Given the description of an element on the screen output the (x, y) to click on. 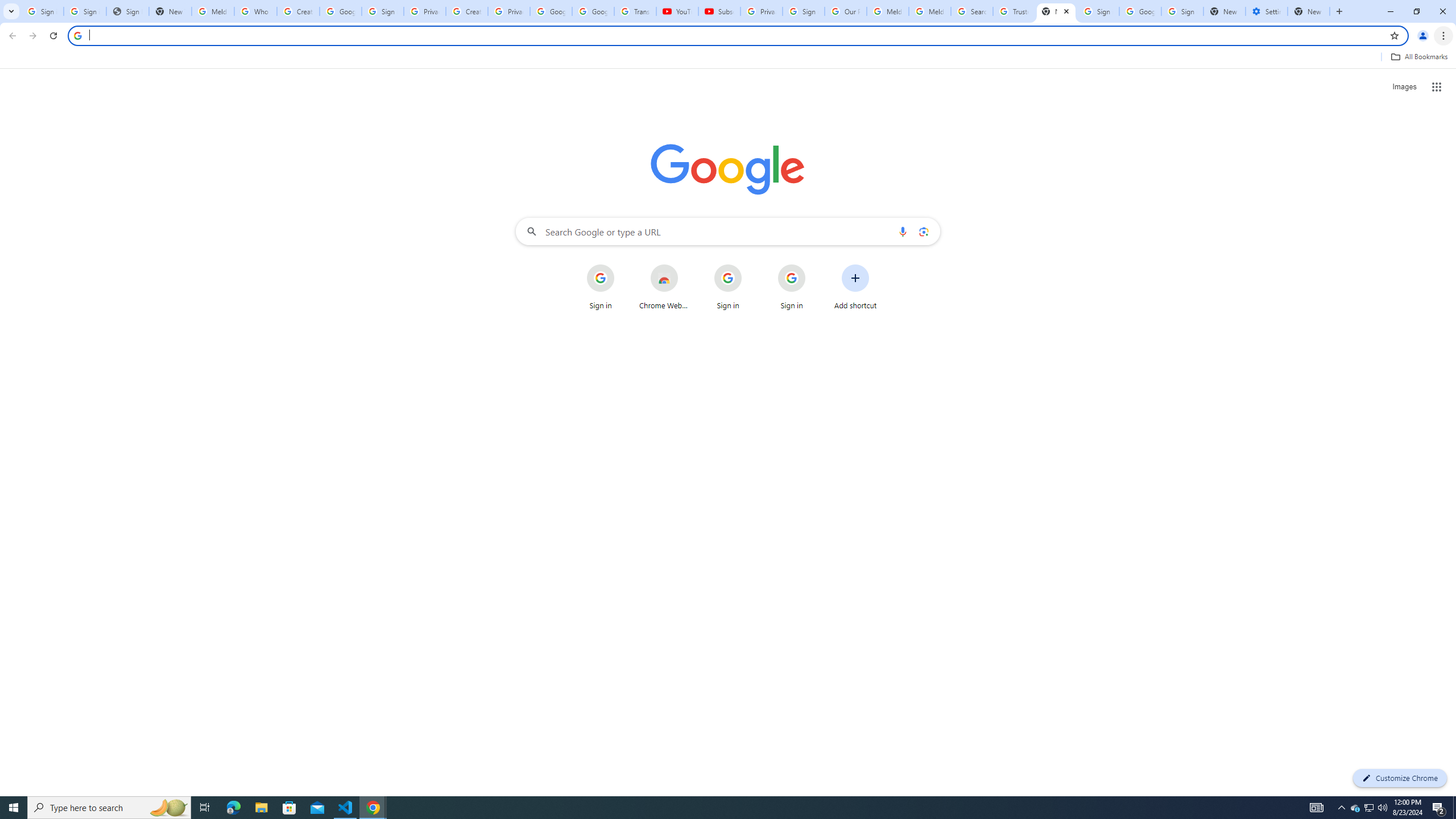
Who is my administrator? - Google Account Help (255, 11)
Chrome Web Store (663, 287)
Google Account (592, 11)
Create your Google Account (298, 11)
New Tab (1308, 11)
More actions for Sign in shortcut (814, 265)
Sign In - USA TODAY (127, 11)
Subscriptions - YouTube (719, 11)
Search icon (77, 35)
Search by voice (902, 230)
